Given the description of an element on the screen output the (x, y) to click on. 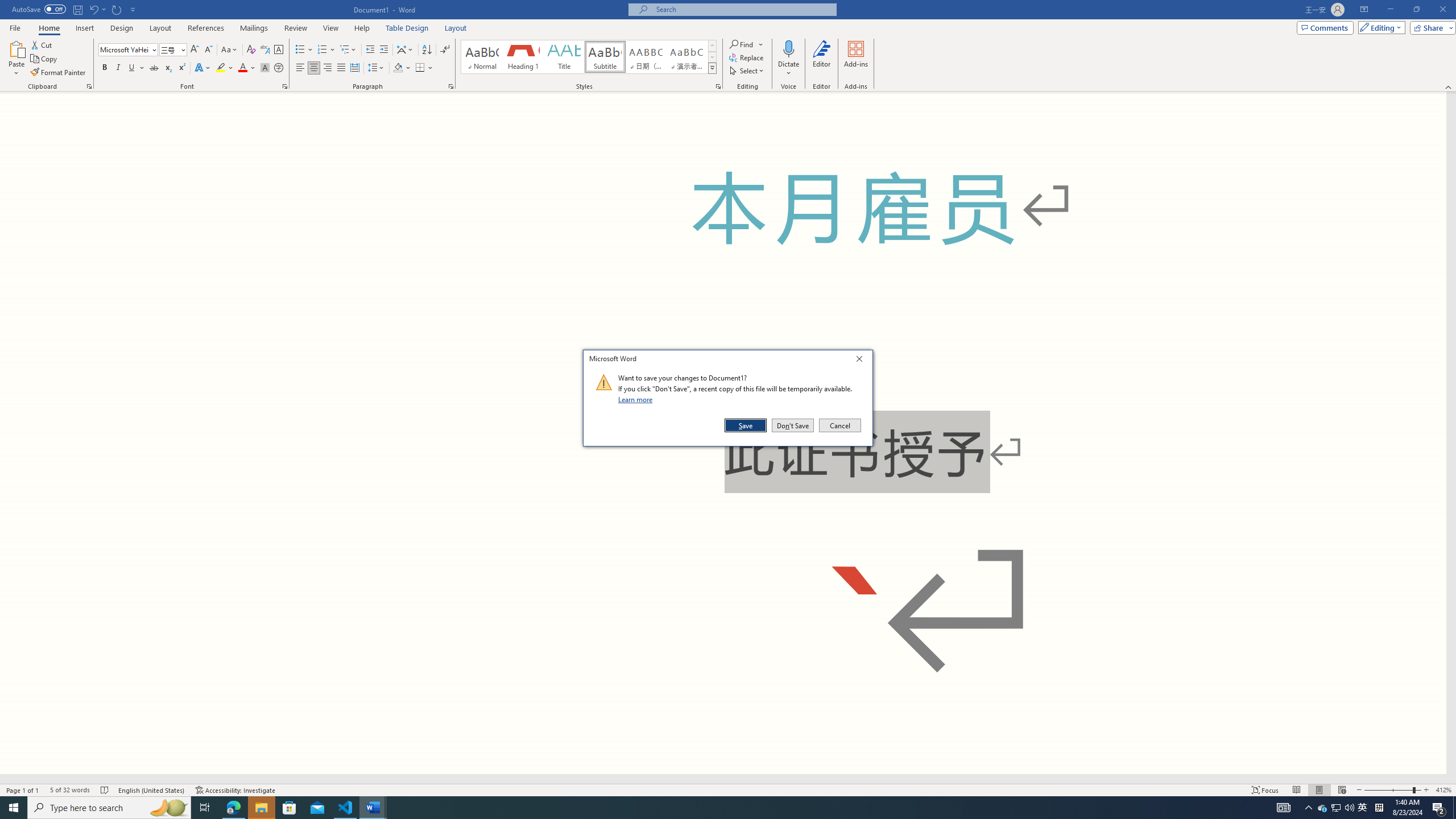
Borders (424, 67)
Copy (45, 58)
Clear Formatting (250, 49)
Styles (711, 67)
Accessibility Checker Accessibility: Investigate (235, 790)
Font Size (172, 49)
Borders (419, 67)
Sort... (426, 49)
Visual Studio Code - 1 running window (345, 807)
Print Layout (1318, 790)
Dictate (788, 48)
Paste (16, 58)
AutoSave (38, 9)
